Given the description of an element on the screen output the (x, y) to click on. 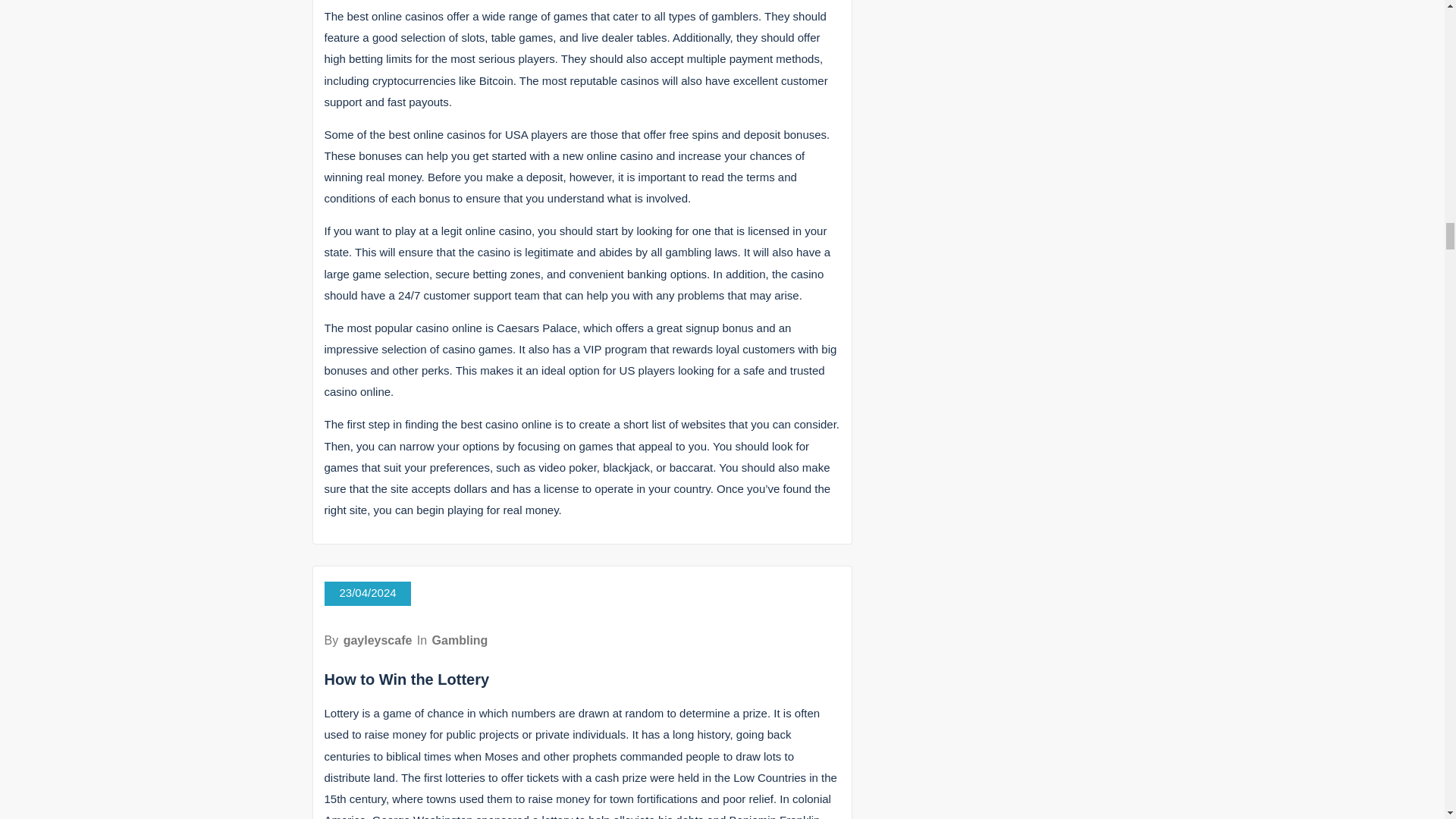
How to Win the Lottery (406, 678)
Gambling (459, 640)
gayleyscafe (377, 640)
